Given the description of an element on the screen output the (x, y) to click on. 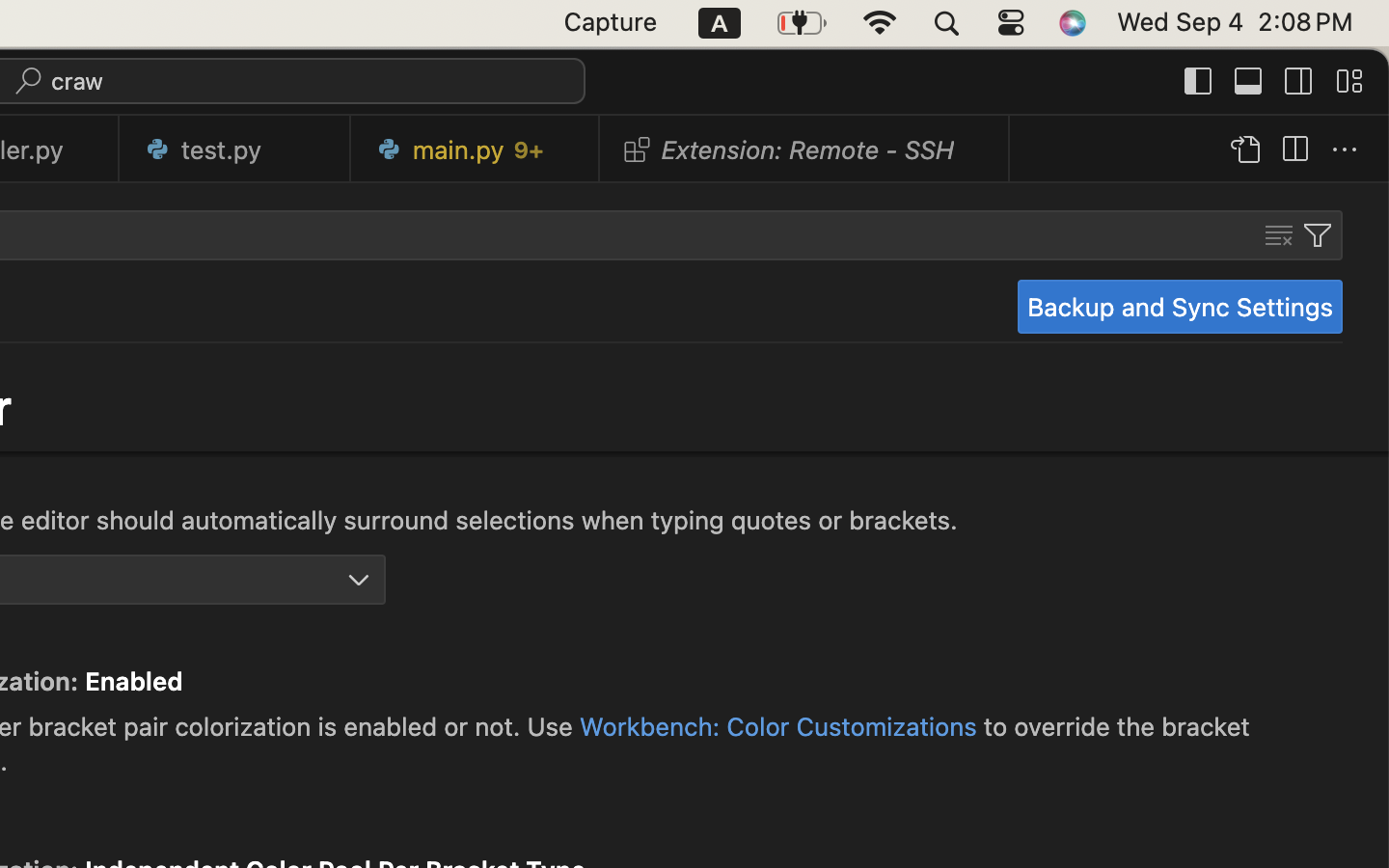
craw Element type: AXStaticText (78, 80)
